Given the description of an element on the screen output the (x, y) to click on. 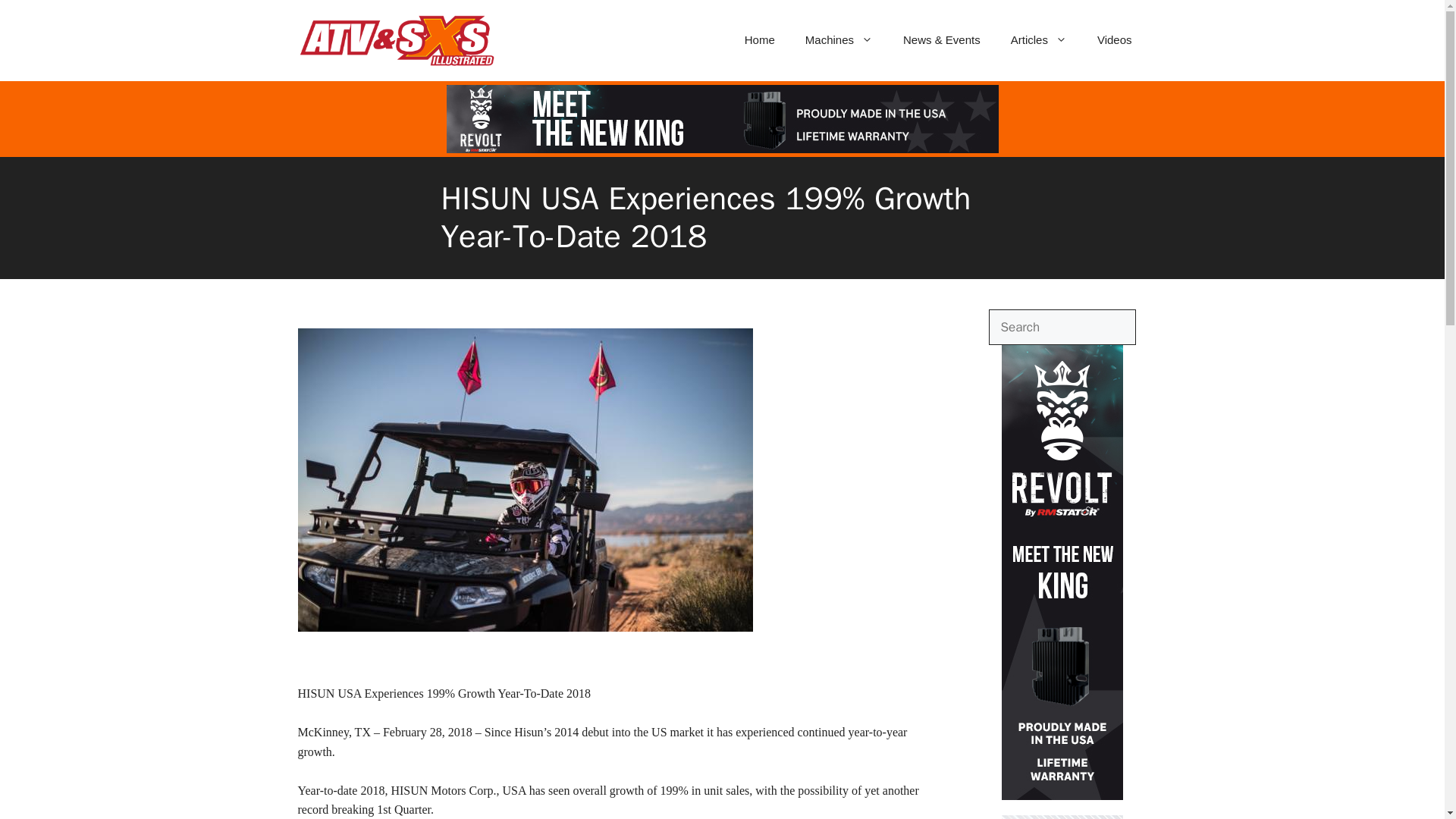
Videos (1114, 40)
Home (759, 40)
Articles (1038, 40)
Machines (839, 40)
